Given the description of an element on the screen output the (x, y) to click on. 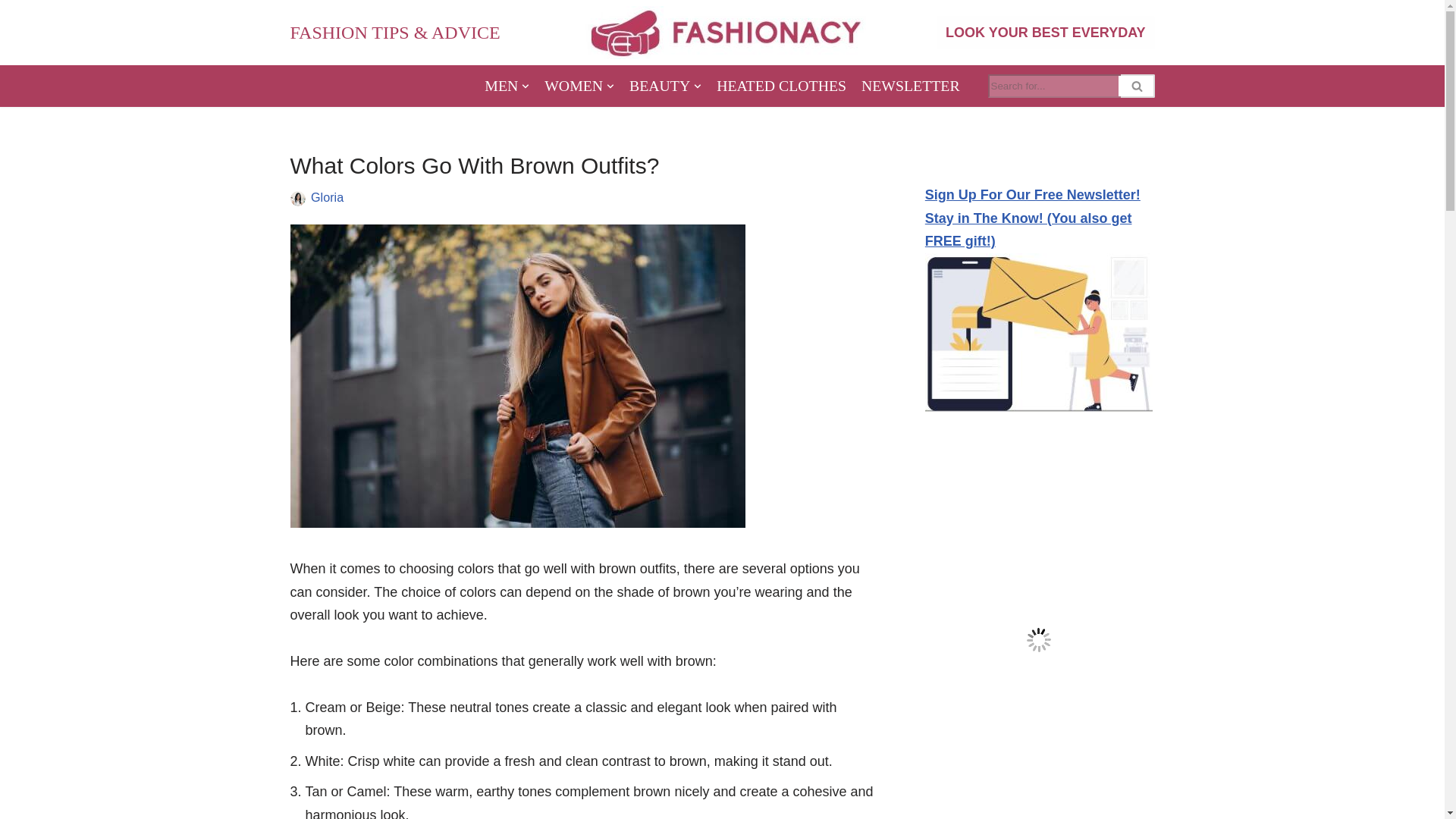
LOOK YOUR BEST EVERYDAY (1045, 32)
BEAUTY (664, 86)
Posts by Gloria (327, 196)
WOMEN (579, 86)
MEN (506, 86)
Skip to content (11, 31)
